Given the description of an element on the screen output the (x, y) to click on. 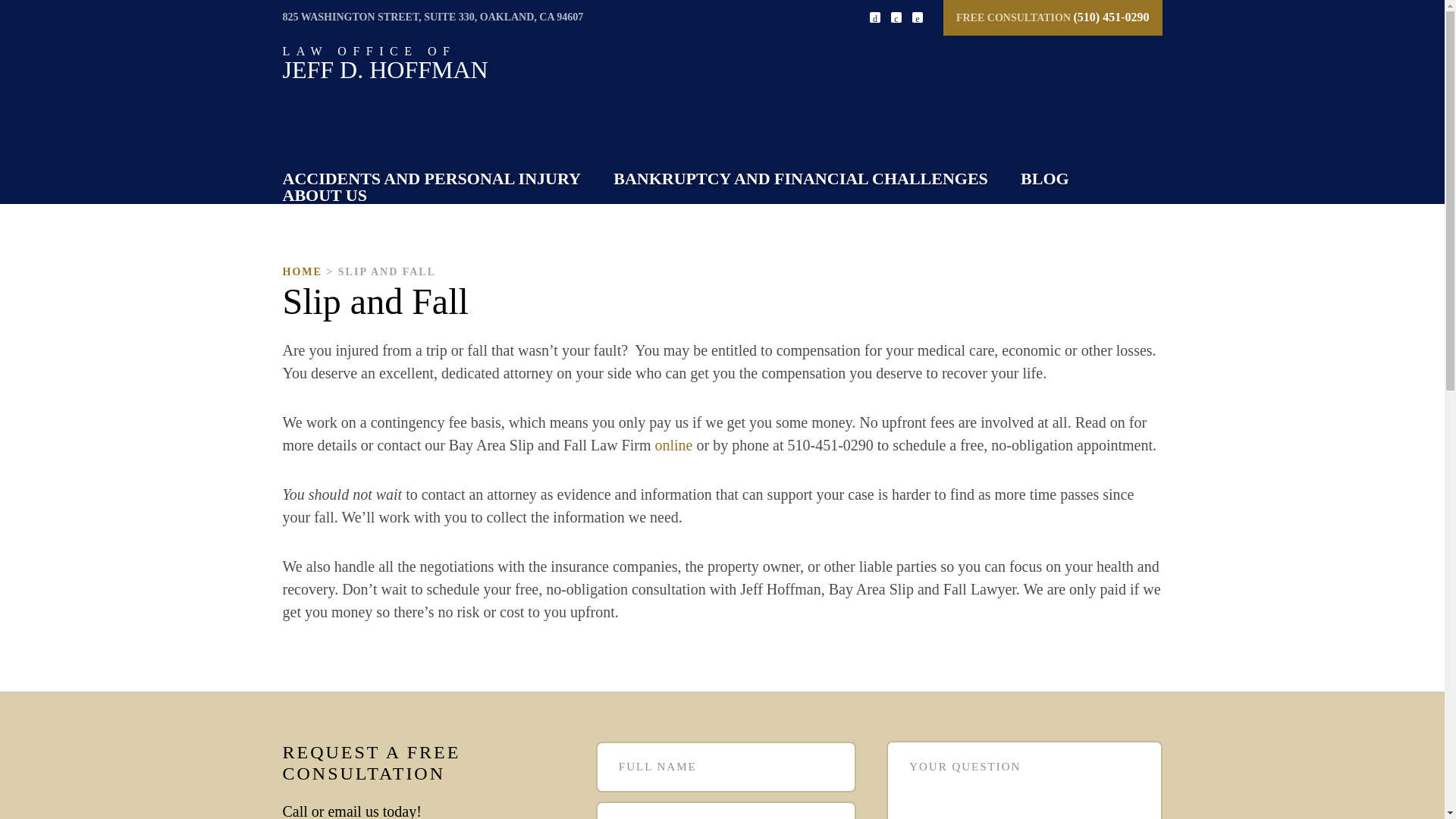
ACCIDENTS AND PERSONAL INJURY (384, 63)
online (430, 178)
HOME (674, 444)
Go to Home. (301, 271)
ABOUT US (301, 271)
BANKRUPTCY AND FINANCIAL CHALLENGES (324, 194)
BLOG (800, 178)
